Given the description of an element on the screen output the (x, y) to click on. 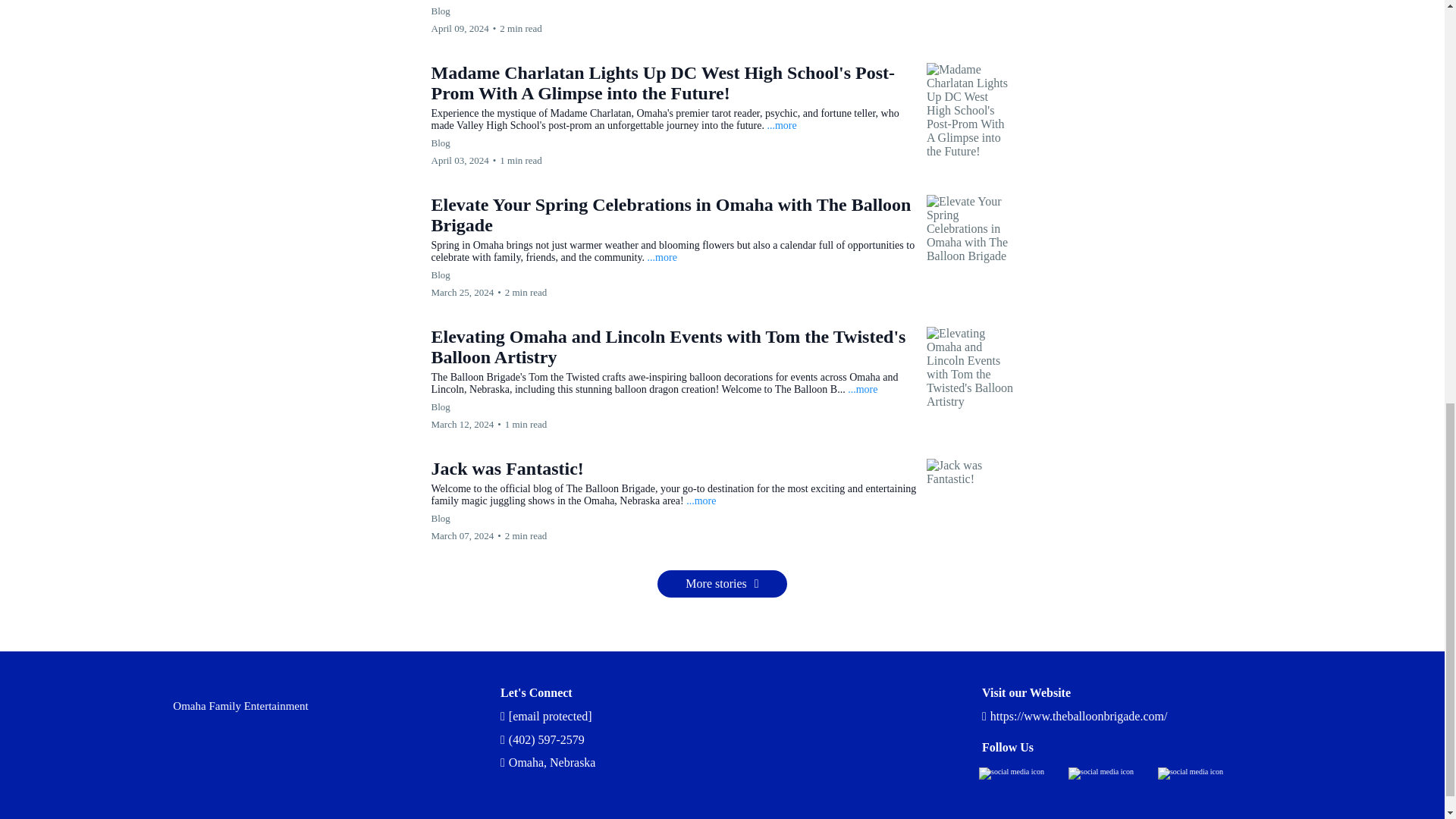
...more (781, 125)
Jack was Fantastic! (506, 468)
...more (862, 389)
More stories (722, 583)
...more (700, 500)
...more (662, 256)
